Given the description of an element on the screen output the (x, y) to click on. 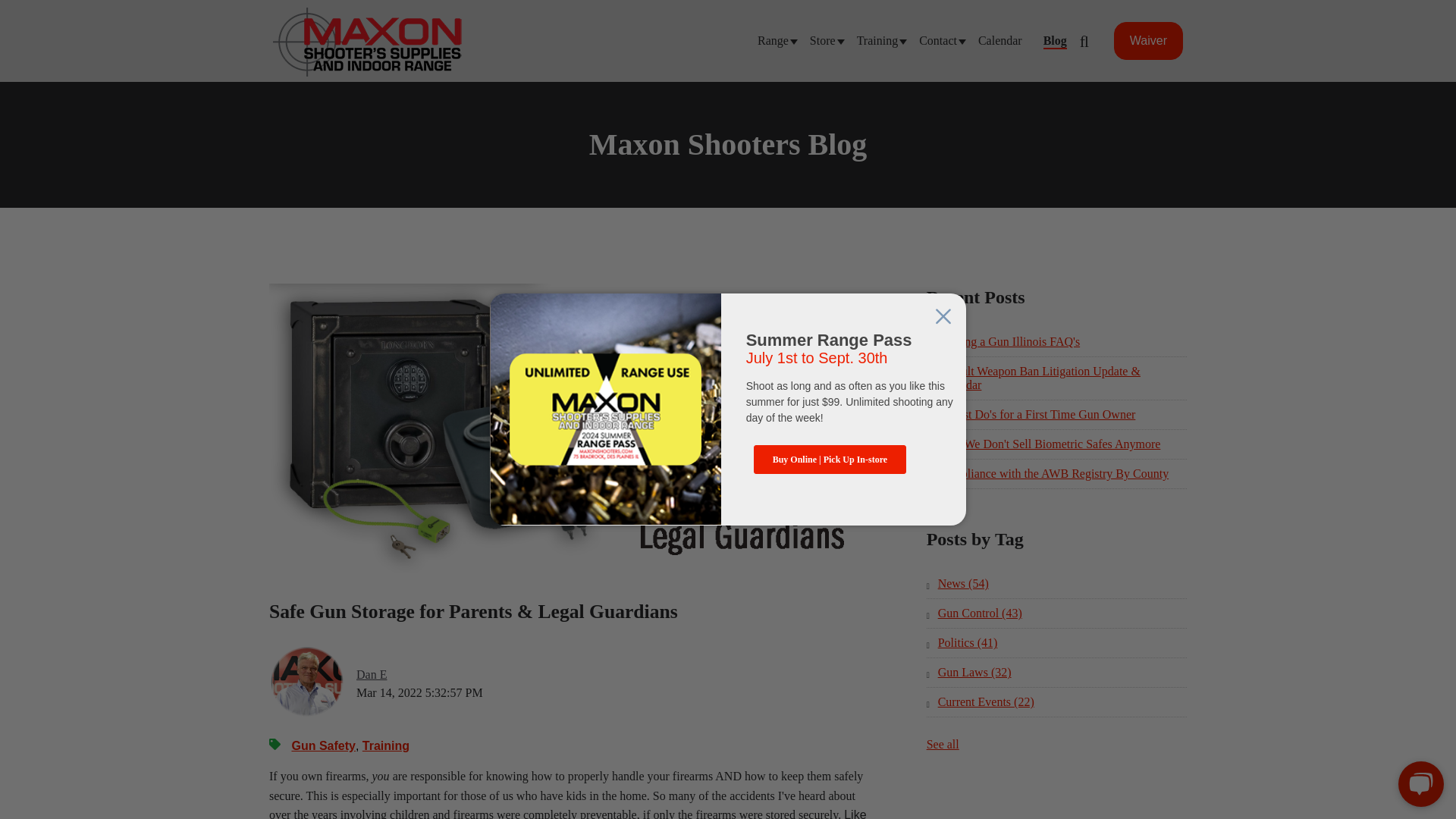
Maxon Shooters Logo (368, 41)
Store (822, 40)
Training (877, 40)
Popup CTA (727, 409)
Waiver (1147, 40)
Range (773, 40)
